Given the description of an element on the screen output the (x, y) to click on. 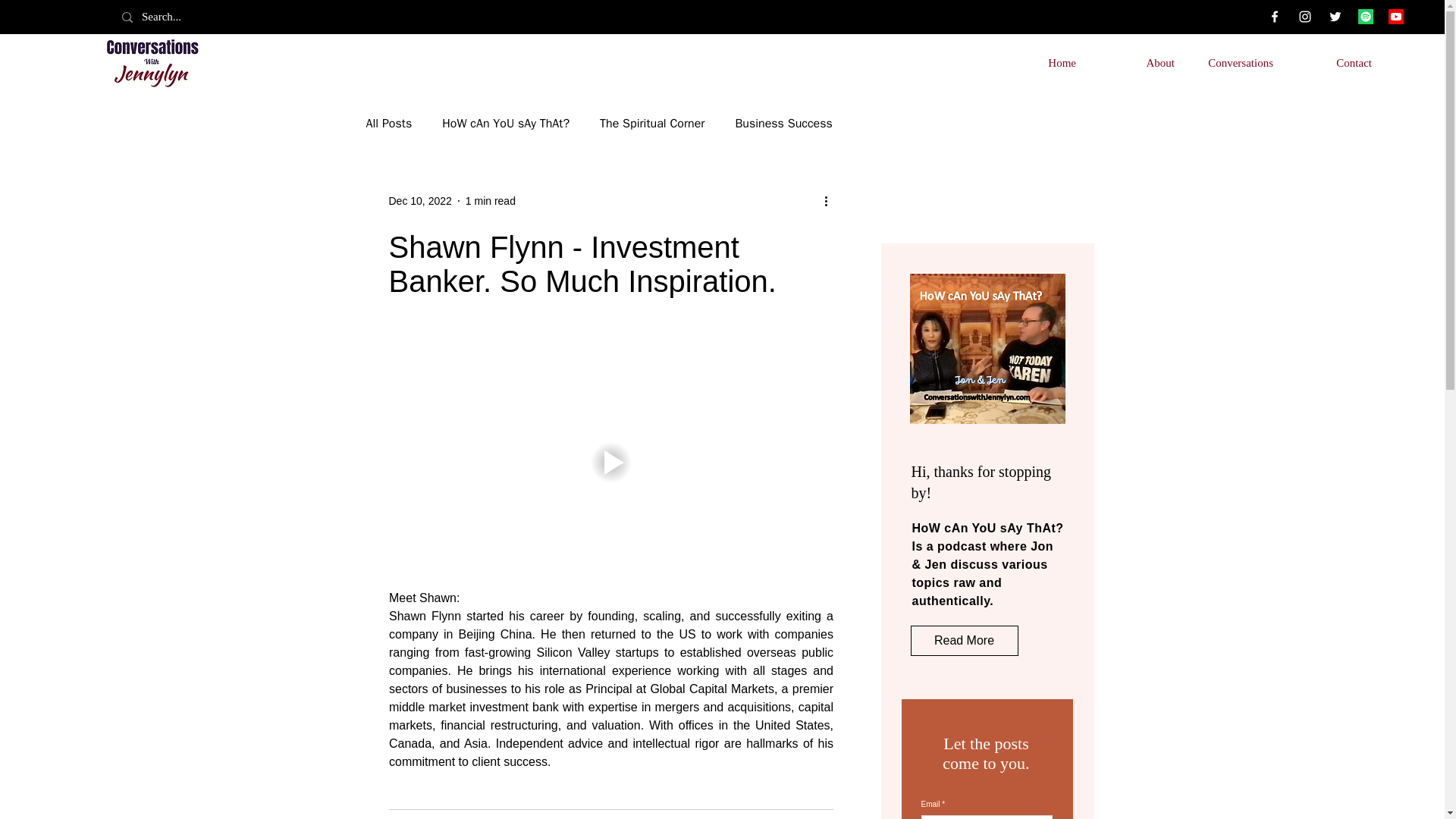
1 min read (490, 200)
About (1136, 62)
Conversations (1235, 62)
Contact (1333, 62)
All Posts (388, 123)
The Spiritual Corner (651, 123)
HoW cAn YoU sAy ThAt? (505, 123)
Read More (963, 640)
Dec 10, 2022 (419, 200)
Business Success (783, 123)
